Given the description of an element on the screen output the (x, y) to click on. 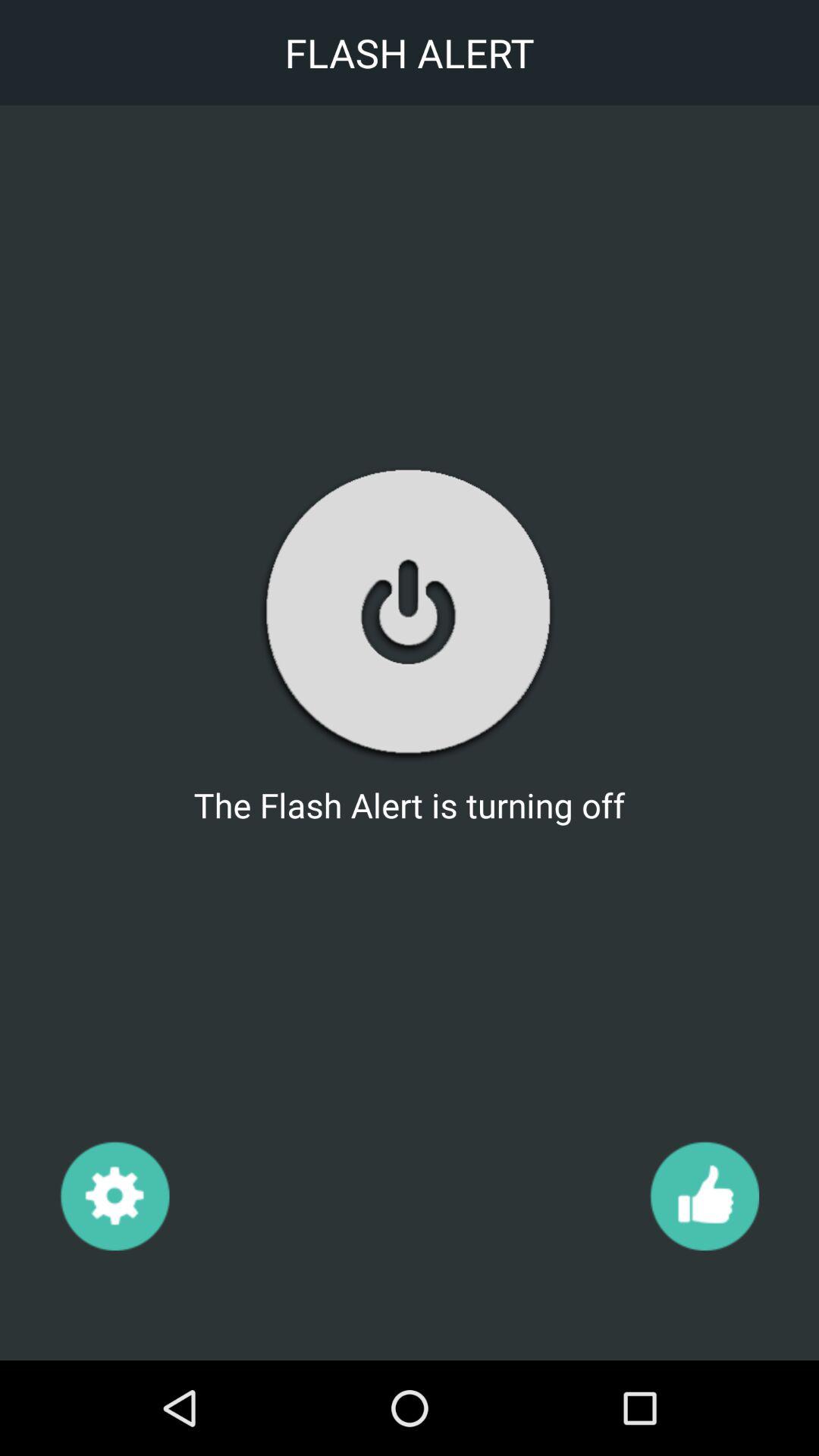
select the item below the flash alert icon (409, 612)
